Given the description of an element on the screen output the (x, y) to click on. 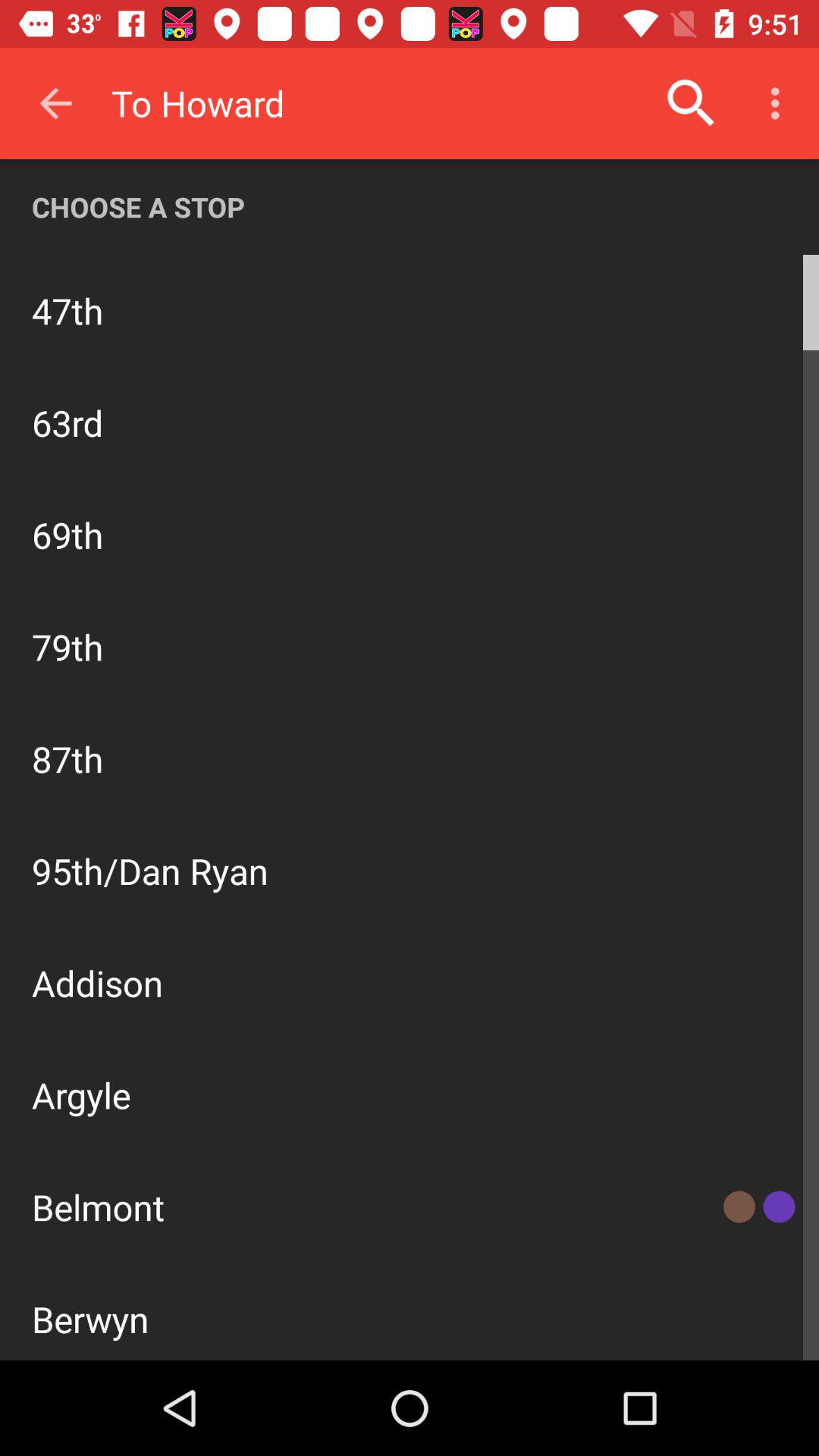
choose this stop (731, 309)
